Given the description of an element on the screen output the (x, y) to click on. 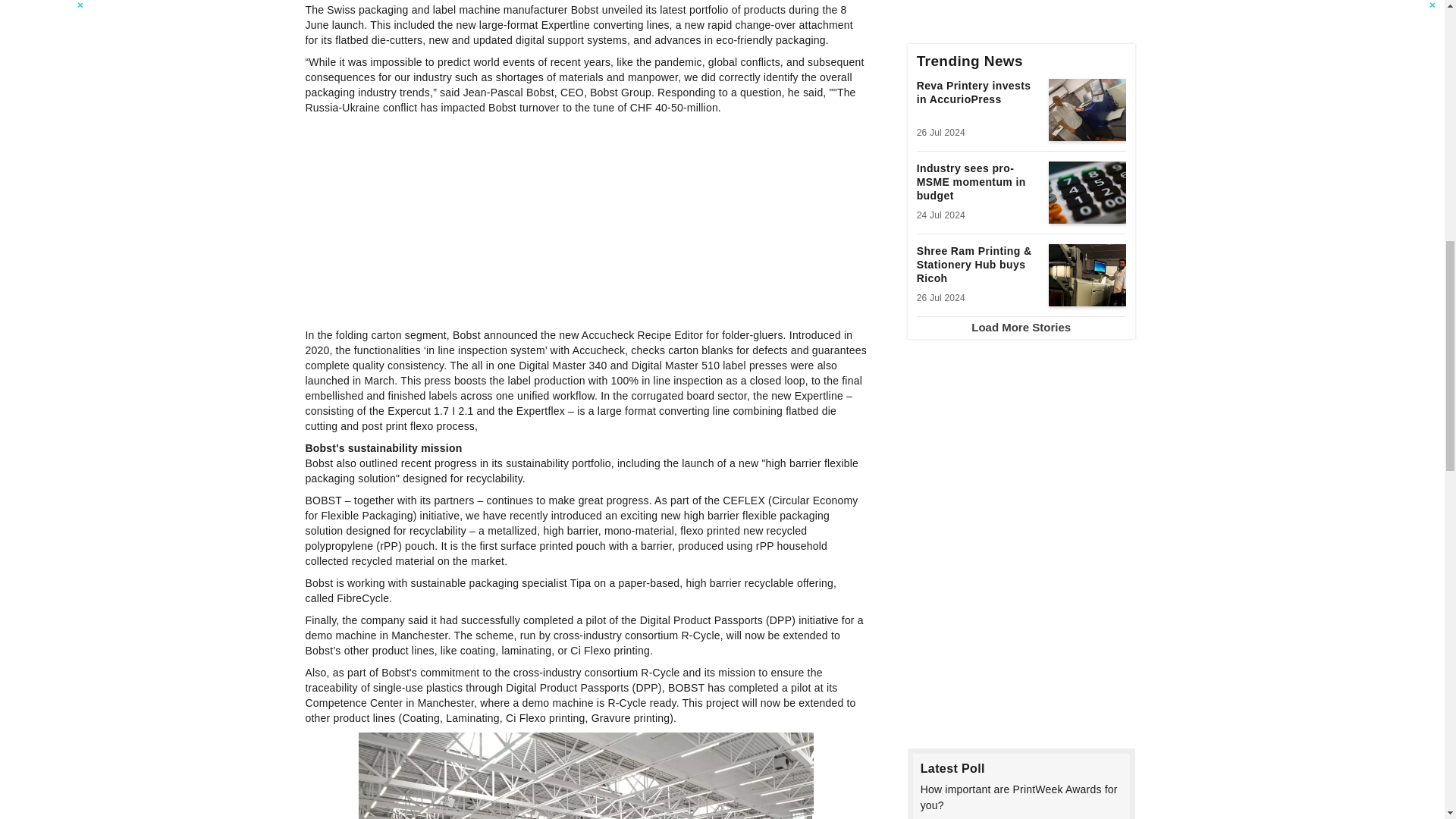
Industry sees pro-MSME momentum in budget (979, 184)
Reva Printery invests in AccurioPress (979, 101)
